Given the description of an element on the screen output the (x, y) to click on. 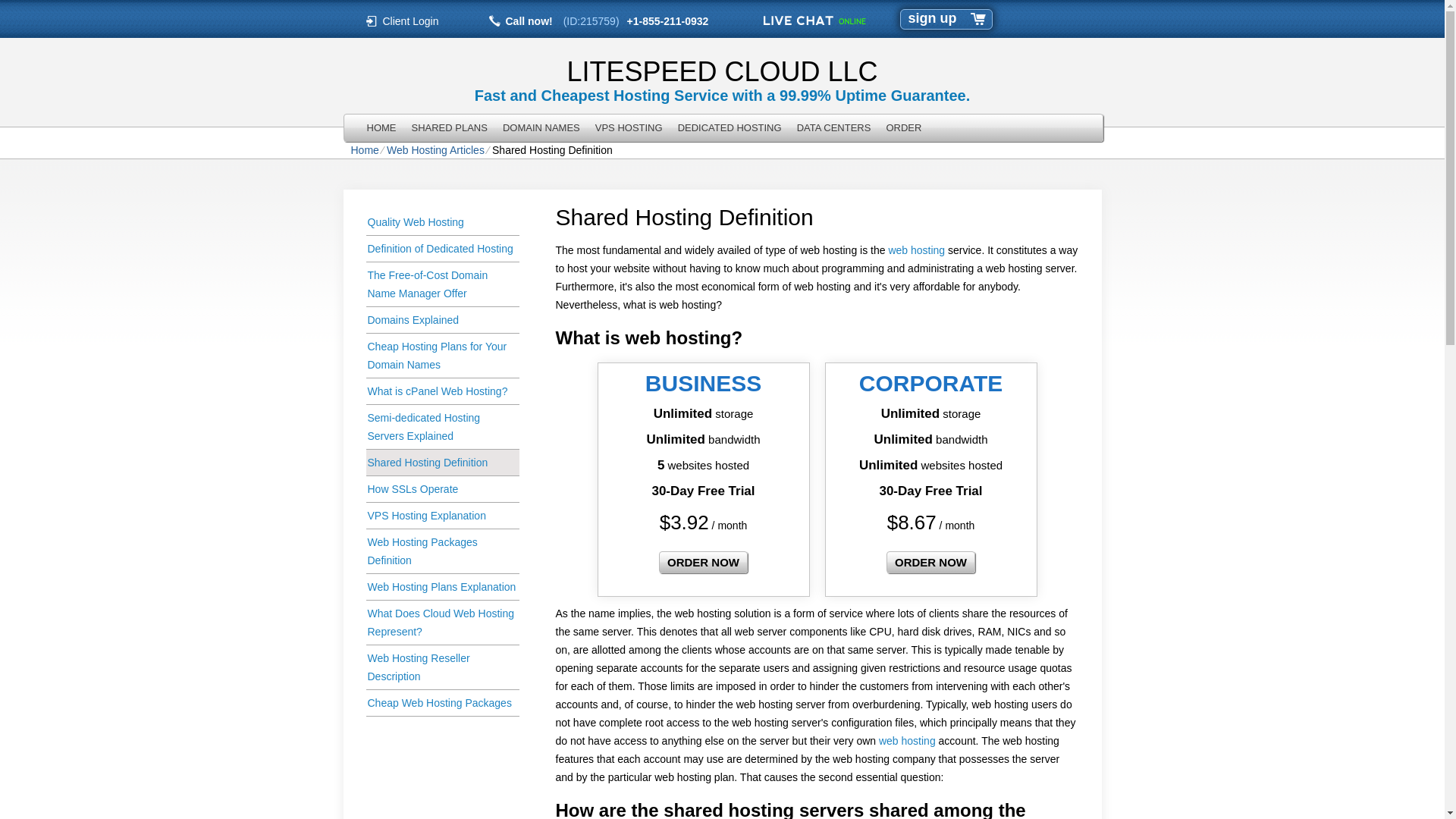
Domains Explained (441, 320)
client login (411, 20)
SHARED PLANS (449, 127)
sign up (932, 17)
Definition of Dedicated Hosting (441, 248)
DEDICATED HOSTING (729, 127)
DATA CENTERS (834, 127)
Quality Web Hosting (441, 222)
What is cPanel Web Hosting? (441, 391)
Live chat online (813, 20)
Home (364, 150)
Client Login (411, 20)
DOMAIN NAMES (541, 127)
sign up (932, 17)
Cheap Hosting Plans for Your Domain Names (441, 355)
